Given the description of an element on the screen output the (x, y) to click on. 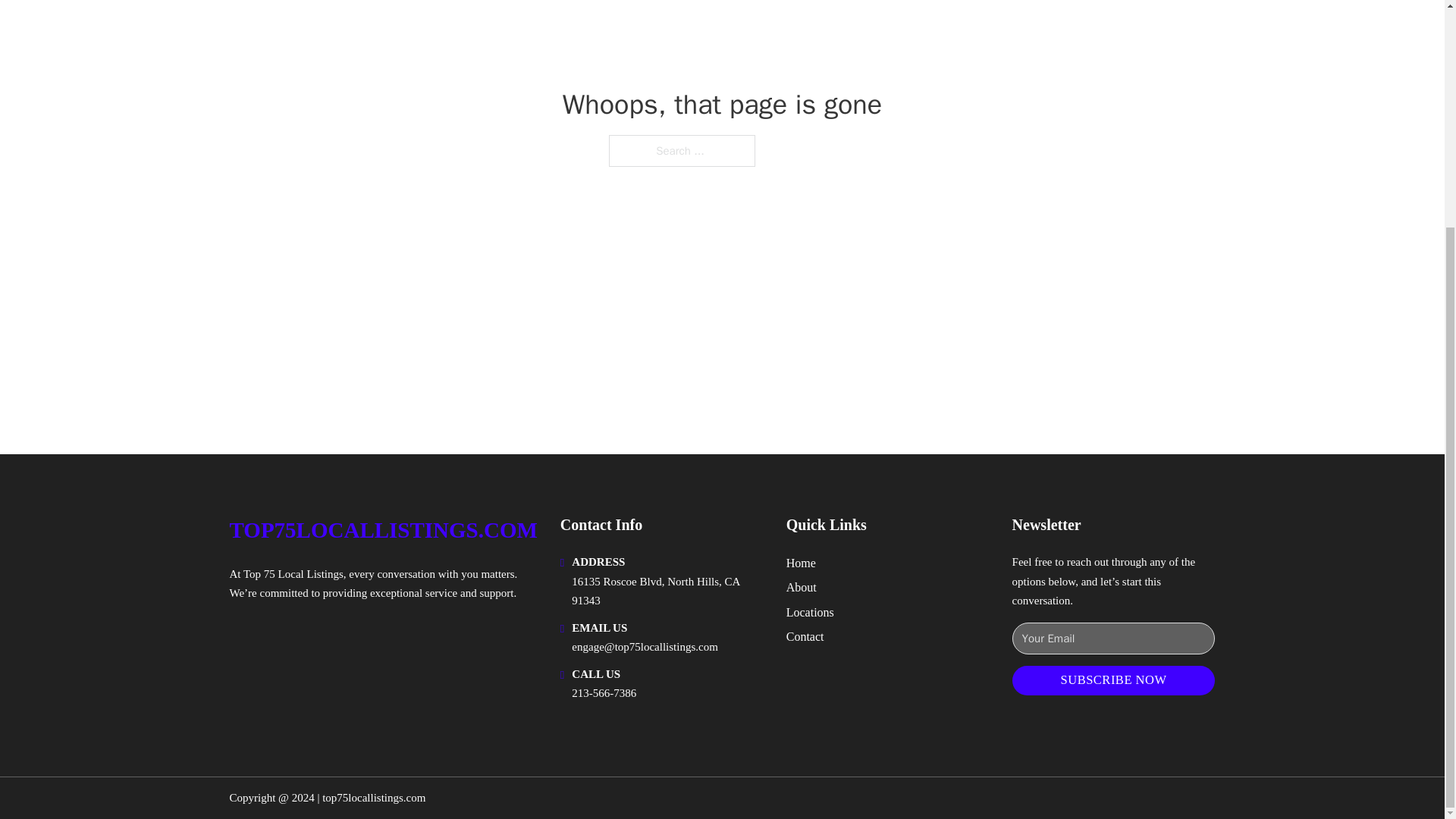
SUBSCRIBE NOW (1113, 680)
Home (800, 562)
213-566-7386 (604, 693)
Contact (805, 636)
TOP75LOCALLISTINGS.COM (382, 529)
About (801, 587)
Locations (810, 611)
